Given the description of an element on the screen output the (x, y) to click on. 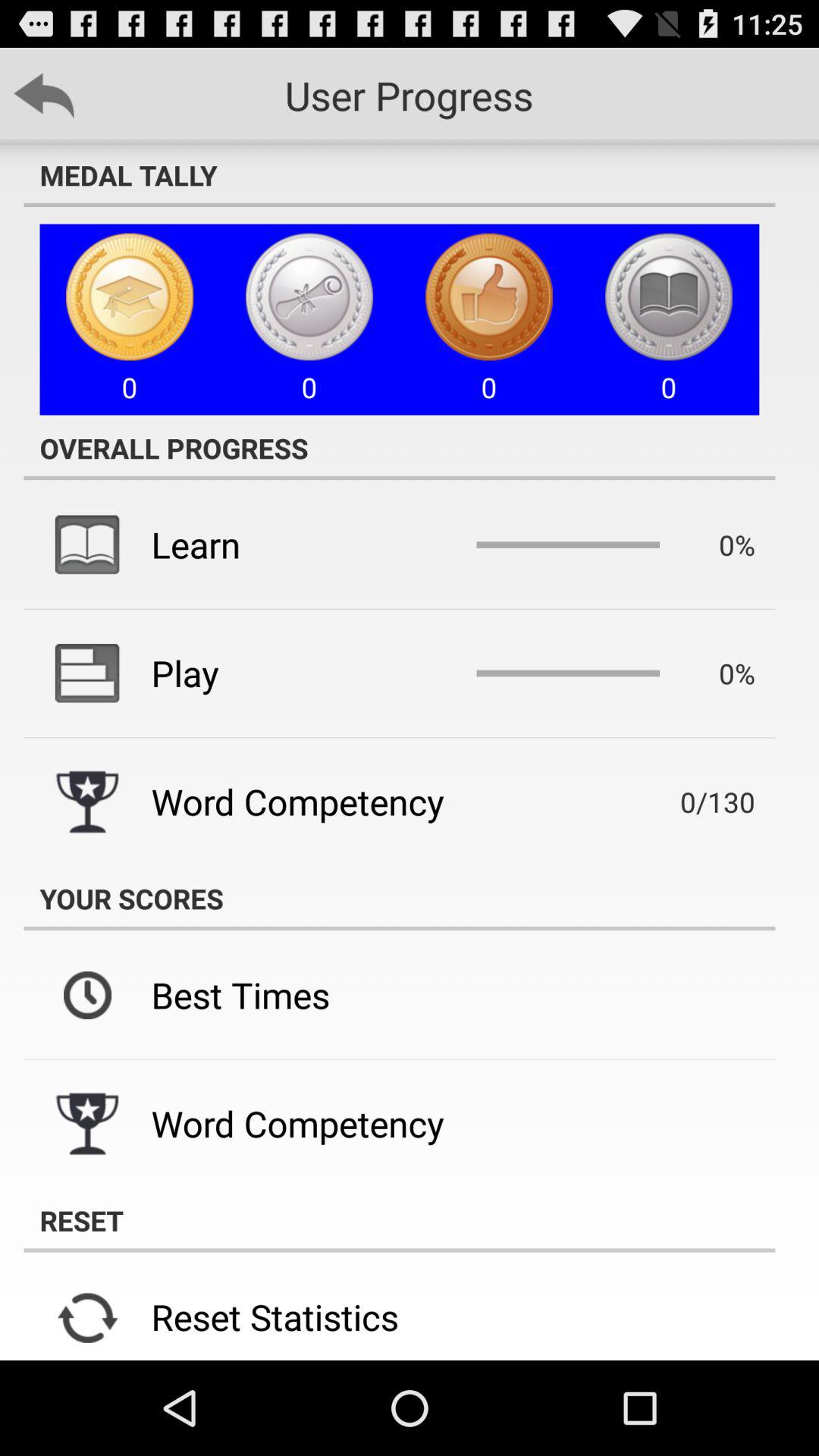
jump until the your scores icon (399, 898)
